Given the description of an element on the screen output the (x, y) to click on. 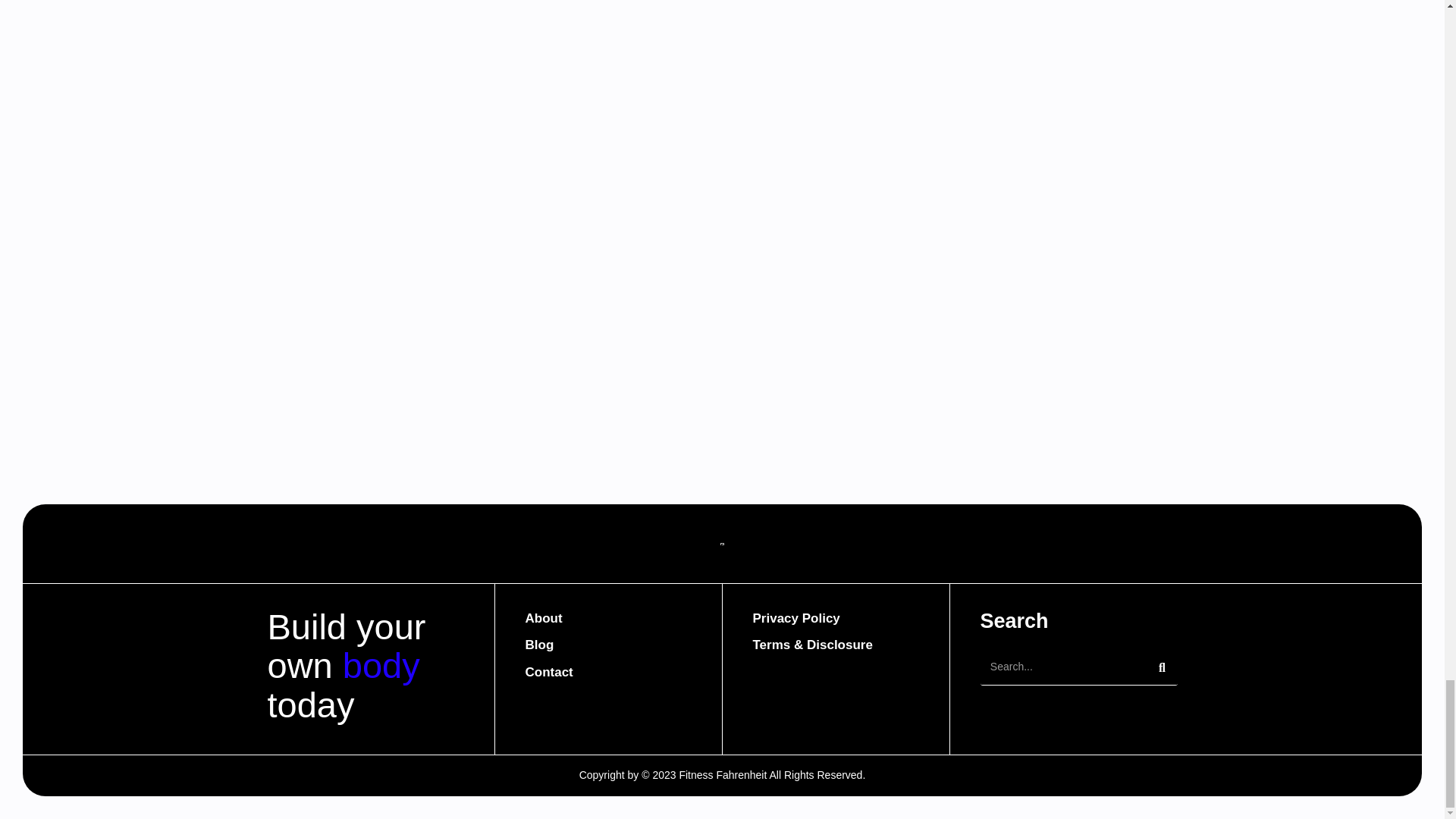
Build your own body today (364, 668)
Search (1063, 667)
About (607, 618)
Privacy Policy (607, 647)
Contact (835, 618)
Search (607, 672)
Blog (1077, 625)
